Given the description of an element on the screen output the (x, y) to click on. 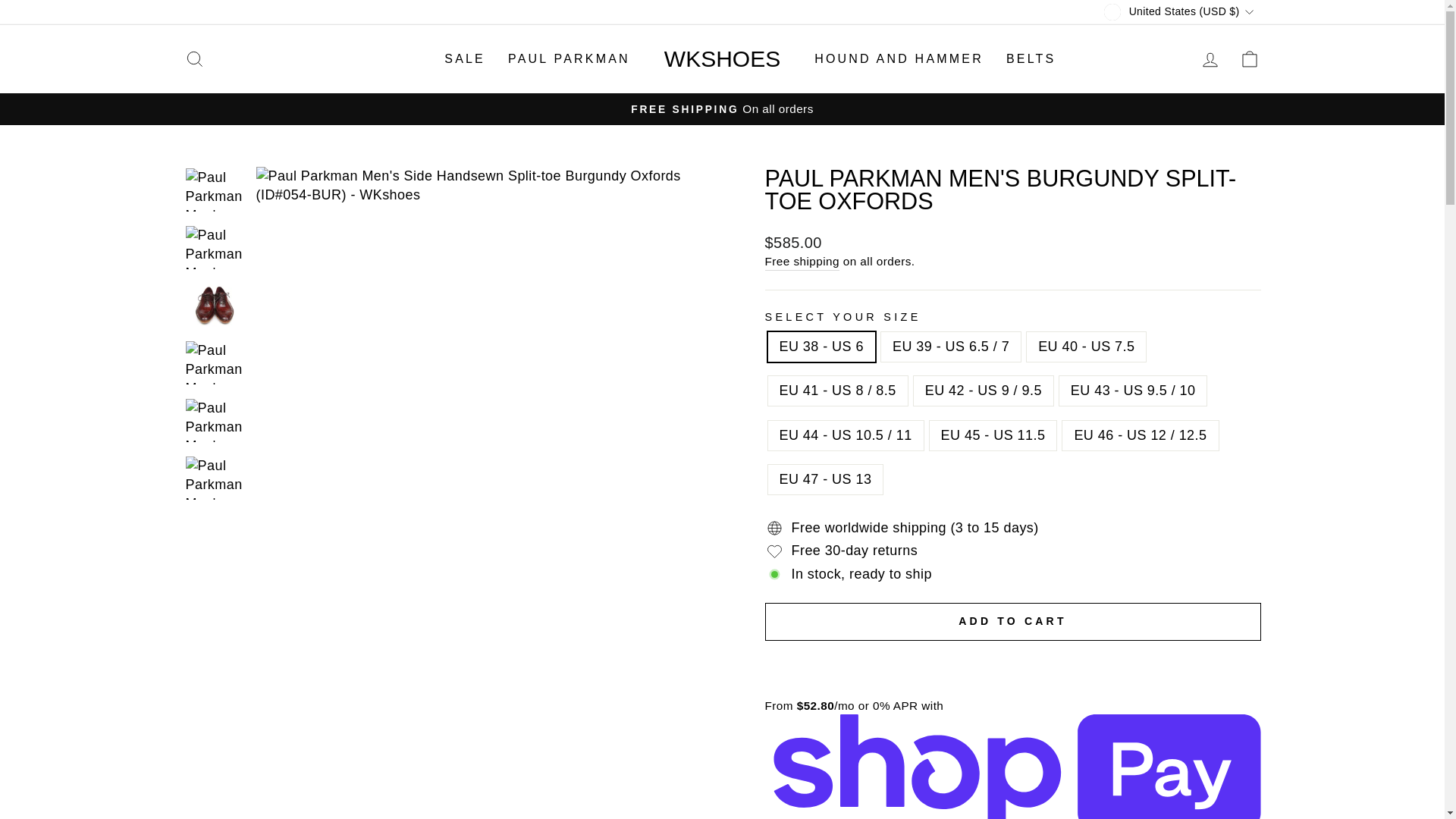
ACCOUNT (1210, 59)
ICON-BAG-MINIMAL (1249, 58)
ICON-SEARCH (194, 58)
